Given the description of an element on the screen output the (x, y) to click on. 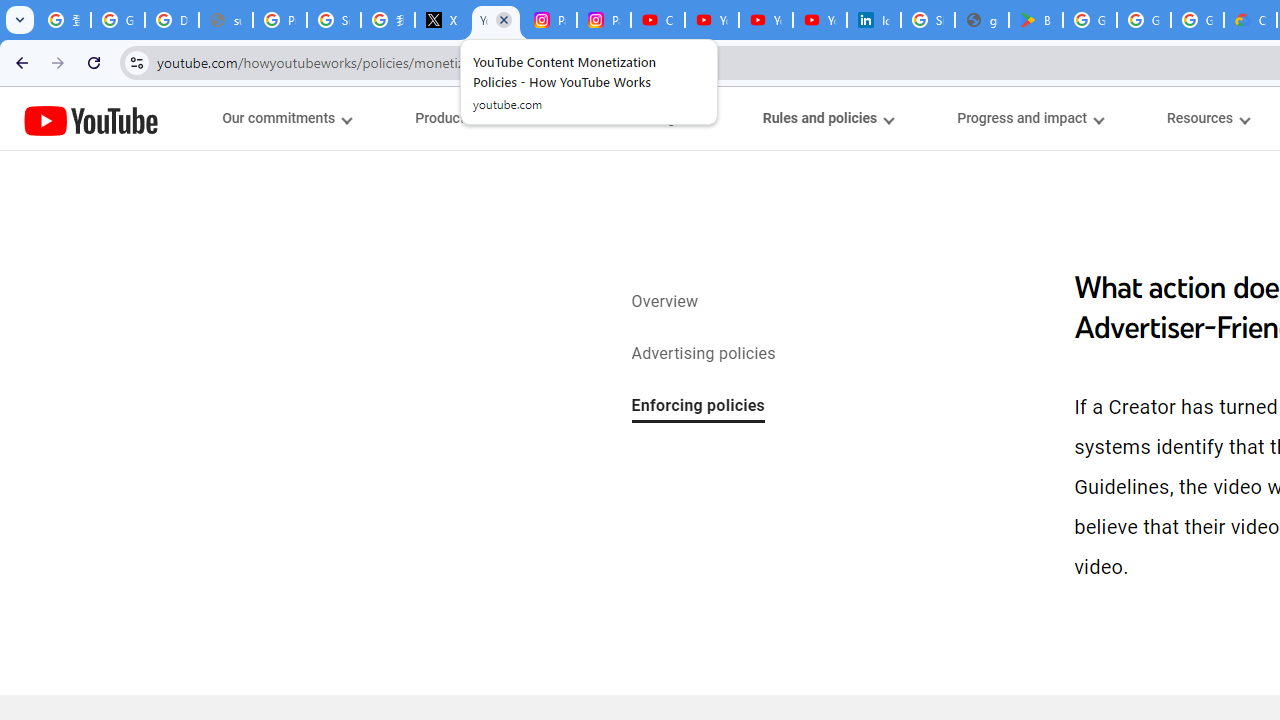
Product features menupopup (475, 118)
YouTube Content Monetization Policies - How YouTube Works (495, 20)
Privacy Help Center - Policies Help (280, 20)
YouTube Culture & Trends - YouTube Top 10, 2021 (765, 20)
support.google.com - Network error (225, 20)
google_privacy_policy_en.pdf (981, 20)
How YouTube Works (91, 118)
X (441, 20)
YouTube Culture & Trends - YouTube Top 10, 2021 (819, 20)
